Given the description of an element on the screen output the (x, y) to click on. 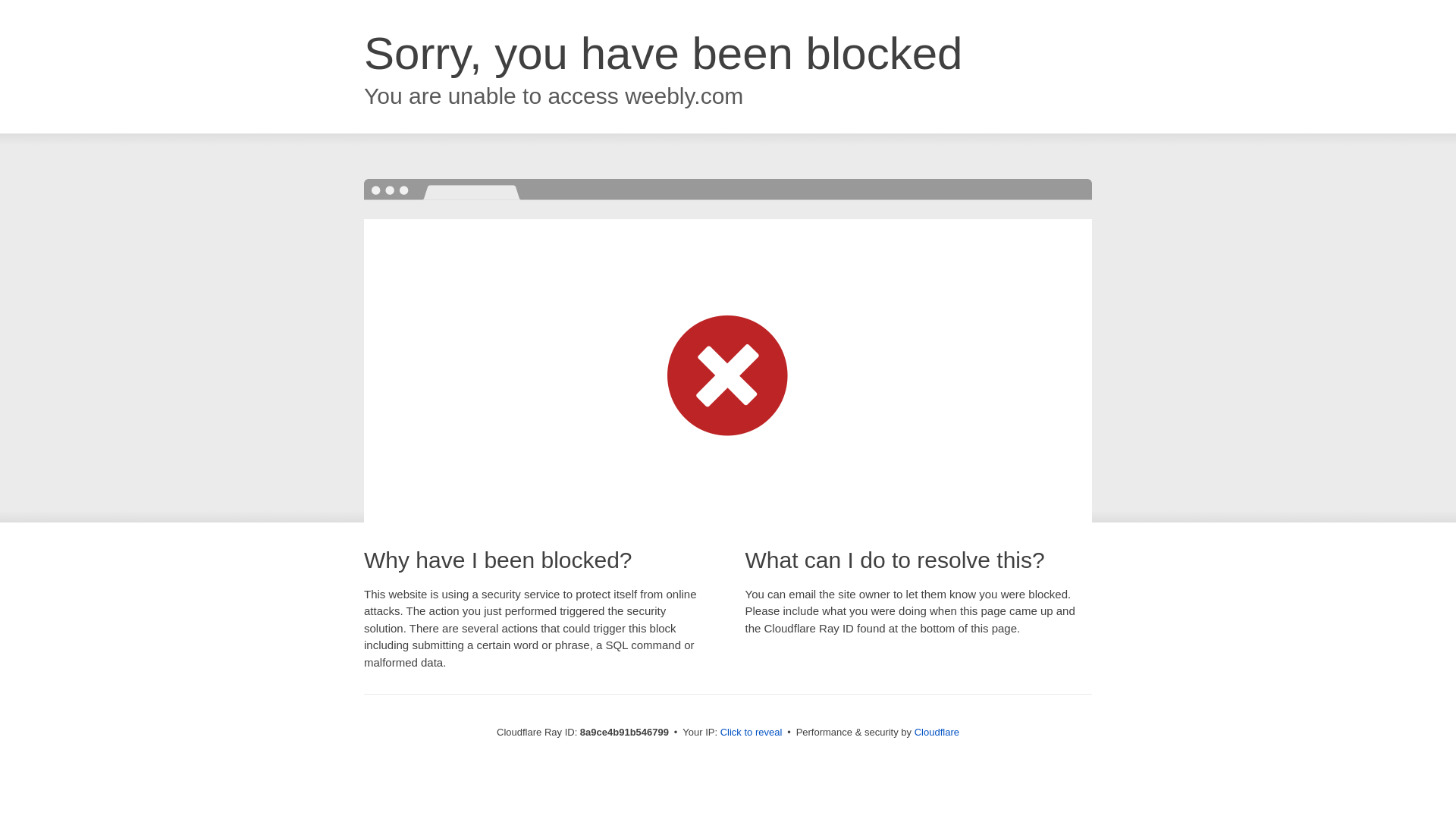
Click to reveal (751, 732)
Cloudflare (936, 731)
